Given the description of an element on the screen output the (x, y) to click on. 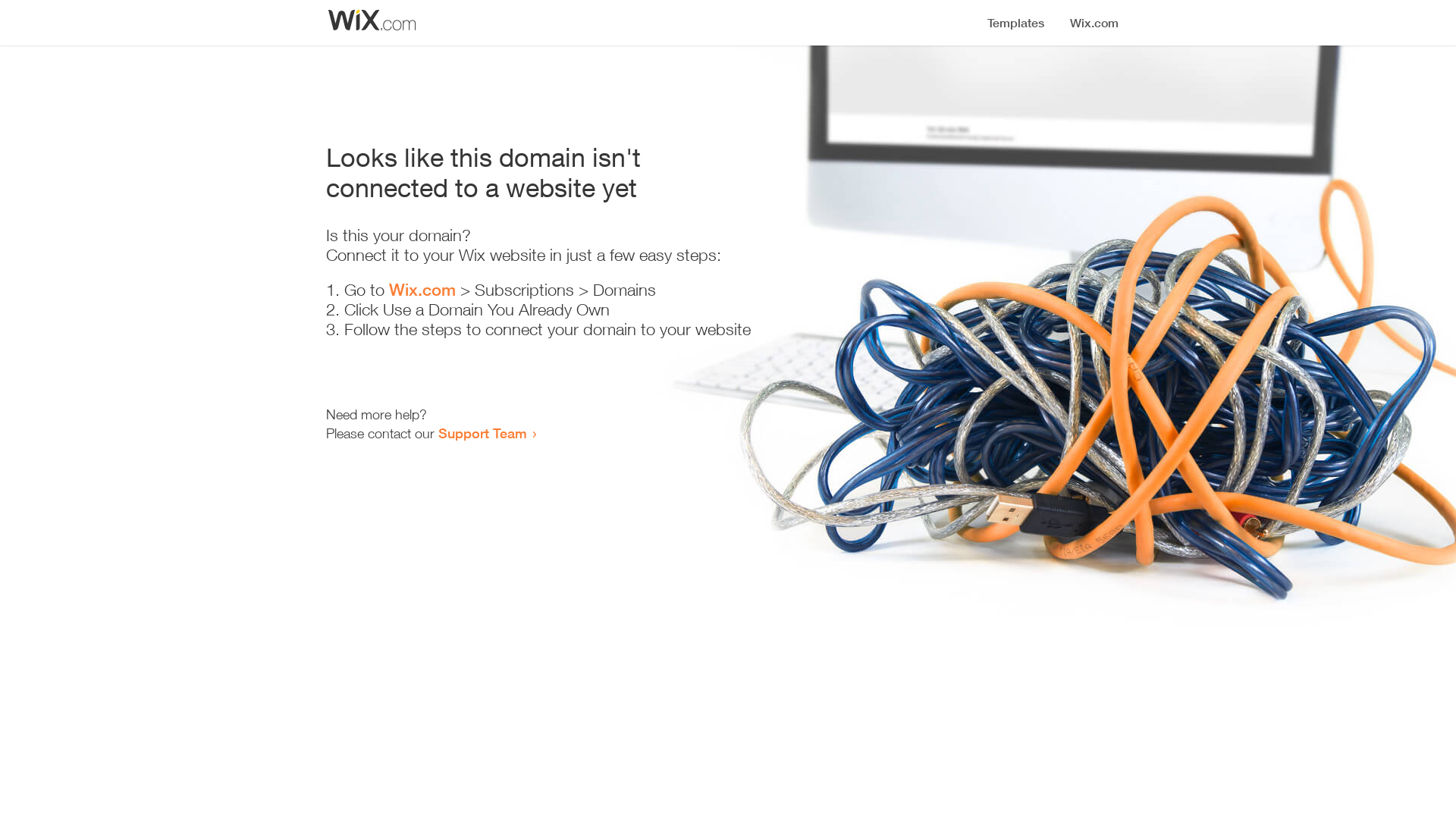
Wix.com Element type: text (422, 289)
Support Team Element type: text (482, 432)
